Given the description of an element on the screen output the (x, y) to click on. 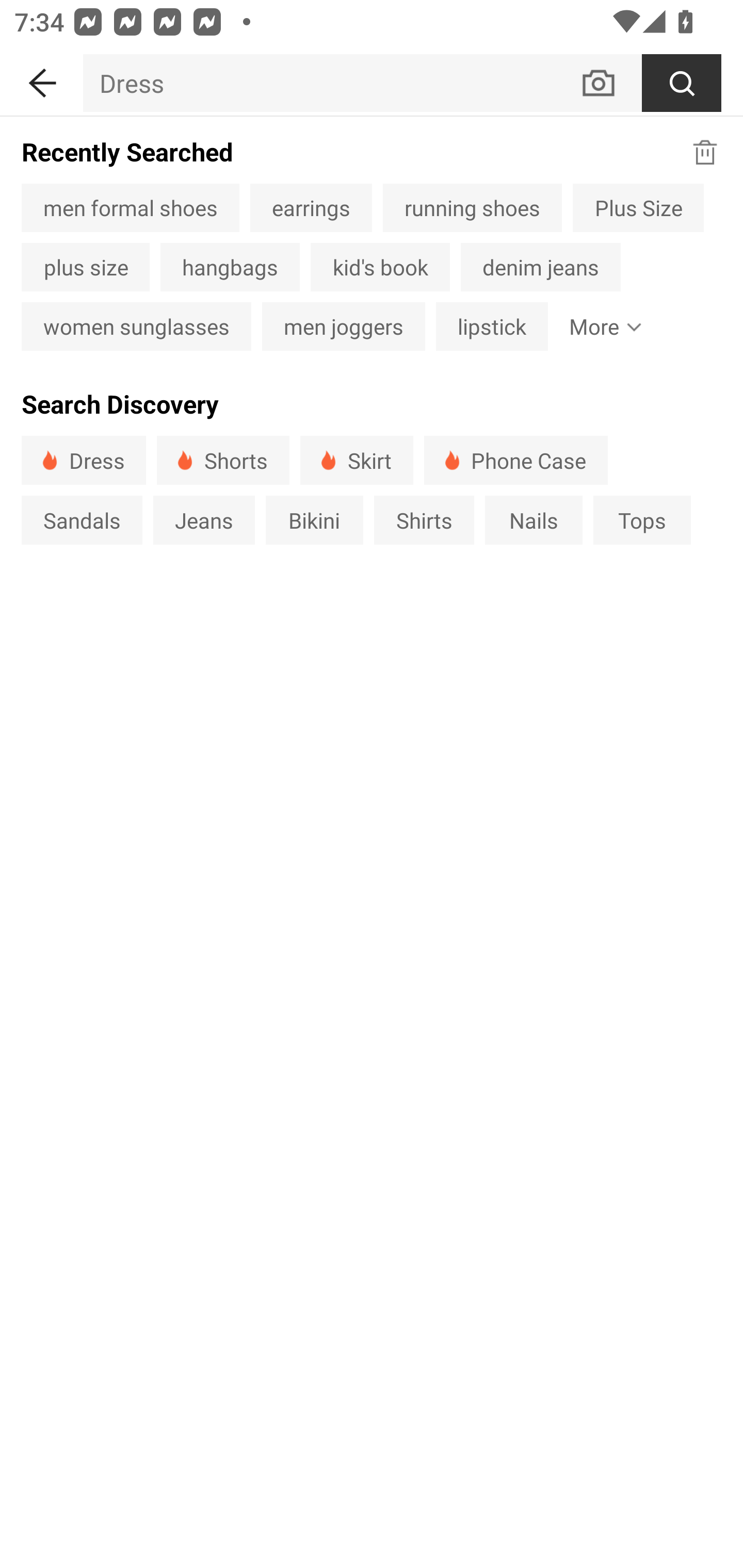
BACK (41, 79)
Dress (330, 82)
men formal shoes (130, 207)
earrings (311, 207)
running shoes (471, 207)
Plus Size (637, 207)
plus size (85, 267)
hangbags (229, 267)
kid's book (380, 267)
denim jeans (540, 267)
women sunglasses (136, 326)
men joggers (343, 326)
lipstick (492, 326)
More Show More (600, 326)
Dress (83, 459)
Shorts (222, 459)
Skirt (356, 459)
Phone Case (515, 459)
Sandals (81, 519)
Jeans (203, 519)
Bikini (314, 519)
Shirts (423, 519)
Nails (533, 519)
Tops (641, 519)
